Given the description of an element on the screen output the (x, y) to click on. 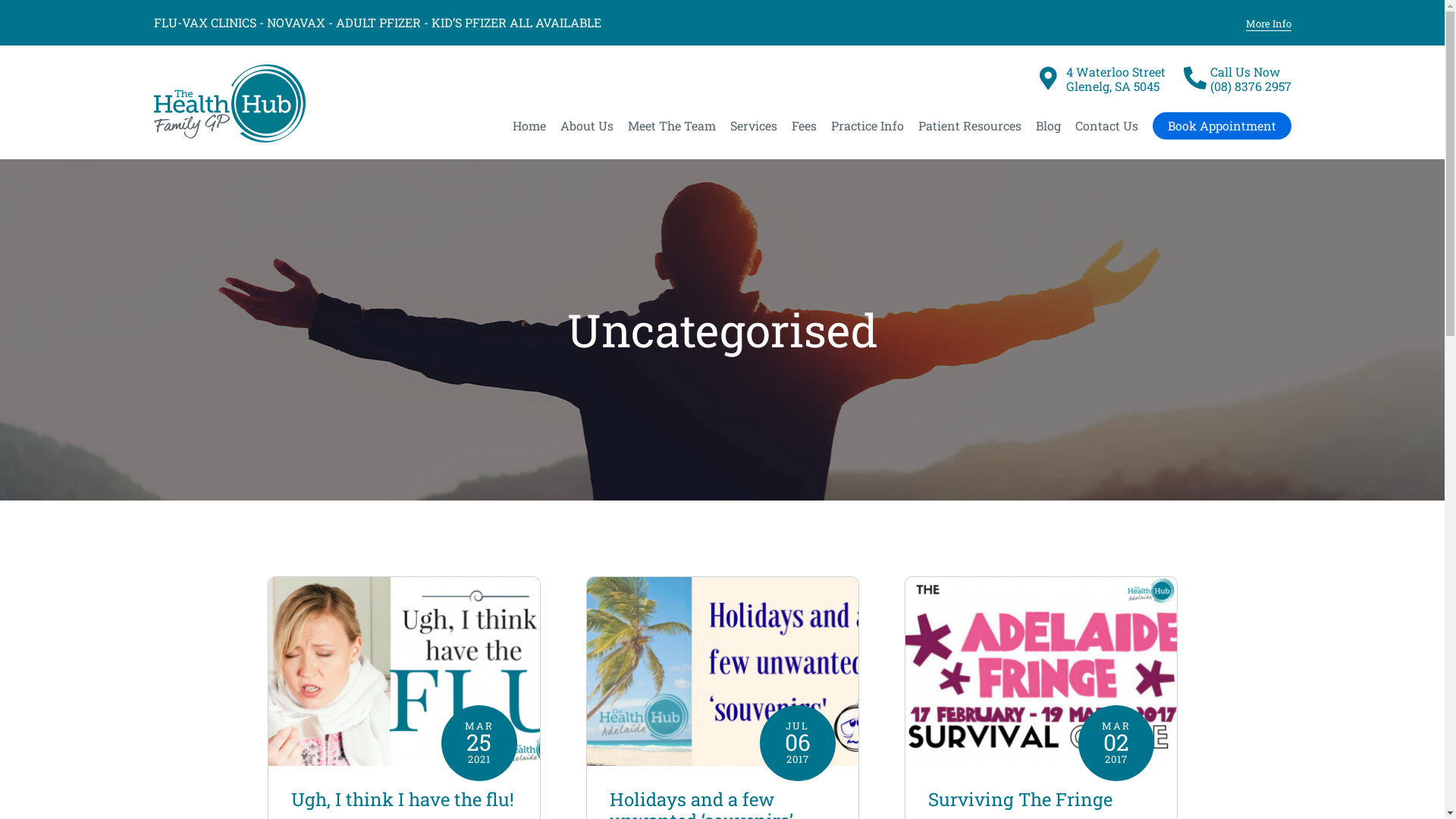
Services Element type: text (752, 125)
Contact Us Element type: text (1106, 125)
About Us Element type: text (585, 125)
Meet The Team Element type: text (671, 125)
Home Element type: text (529, 125)
Patient Resources Element type: text (968, 125)
Ugh, I think I have the flu! Element type: text (402, 799)
Book Appointment Element type: text (1221, 125)
Fees Element type: text (803, 125)
More Info Element type: text (1267, 23)
Surviving The Fringe Element type: text (1020, 799)
Practice Info Element type: text (867, 125)
Blog Element type: text (1047, 125)
(08) 8376 2957 Element type: text (1250, 86)
